Given the description of an element on the screen output the (x, y) to click on. 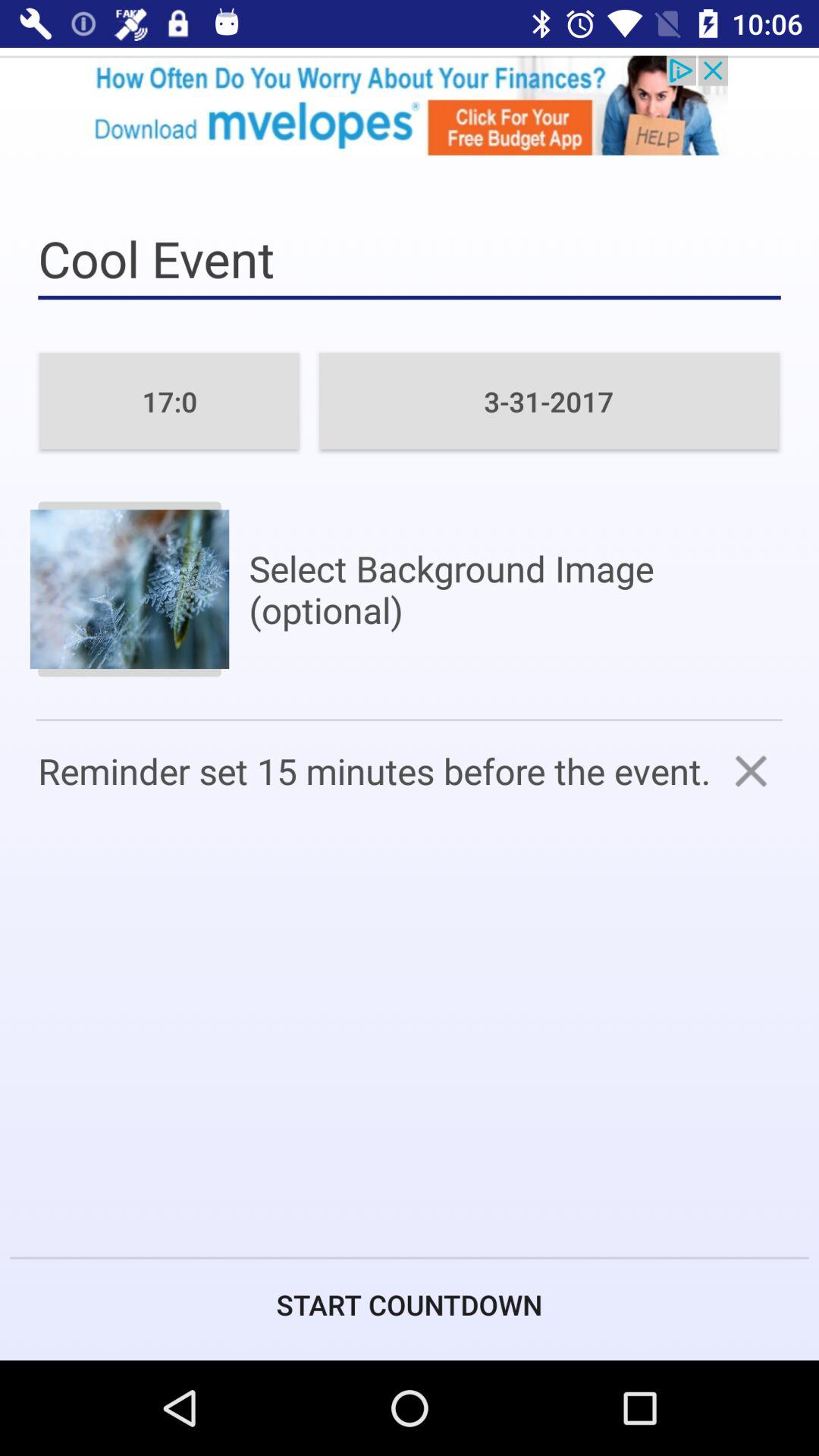
select image option (129, 588)
